Given the description of an element on the screen output the (x, y) to click on. 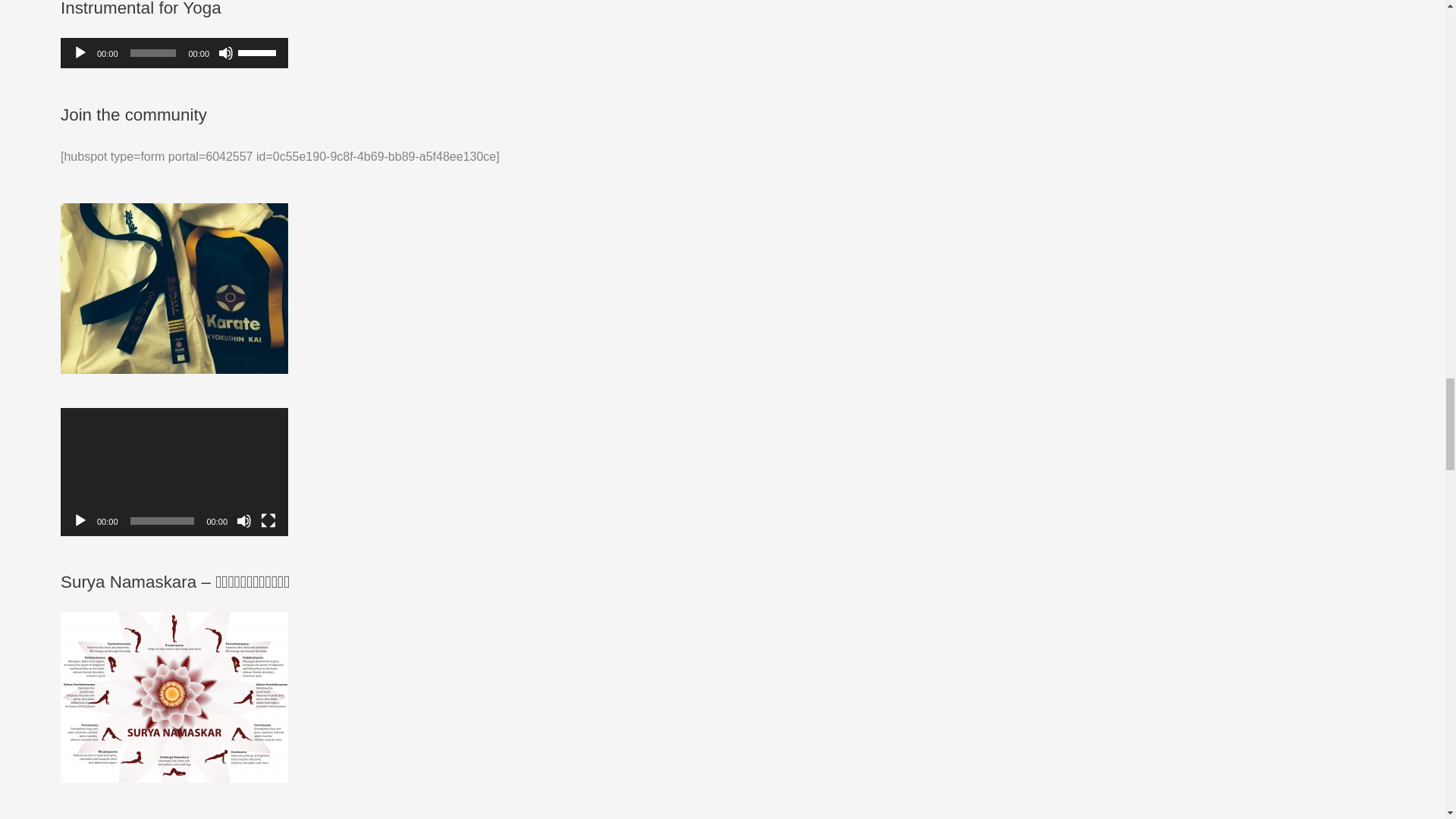
Mute (225, 52)
Play (79, 520)
Mute (243, 520)
Fullscreen (268, 520)
Play (79, 52)
